Given the description of an element on the screen output the (x, y) to click on. 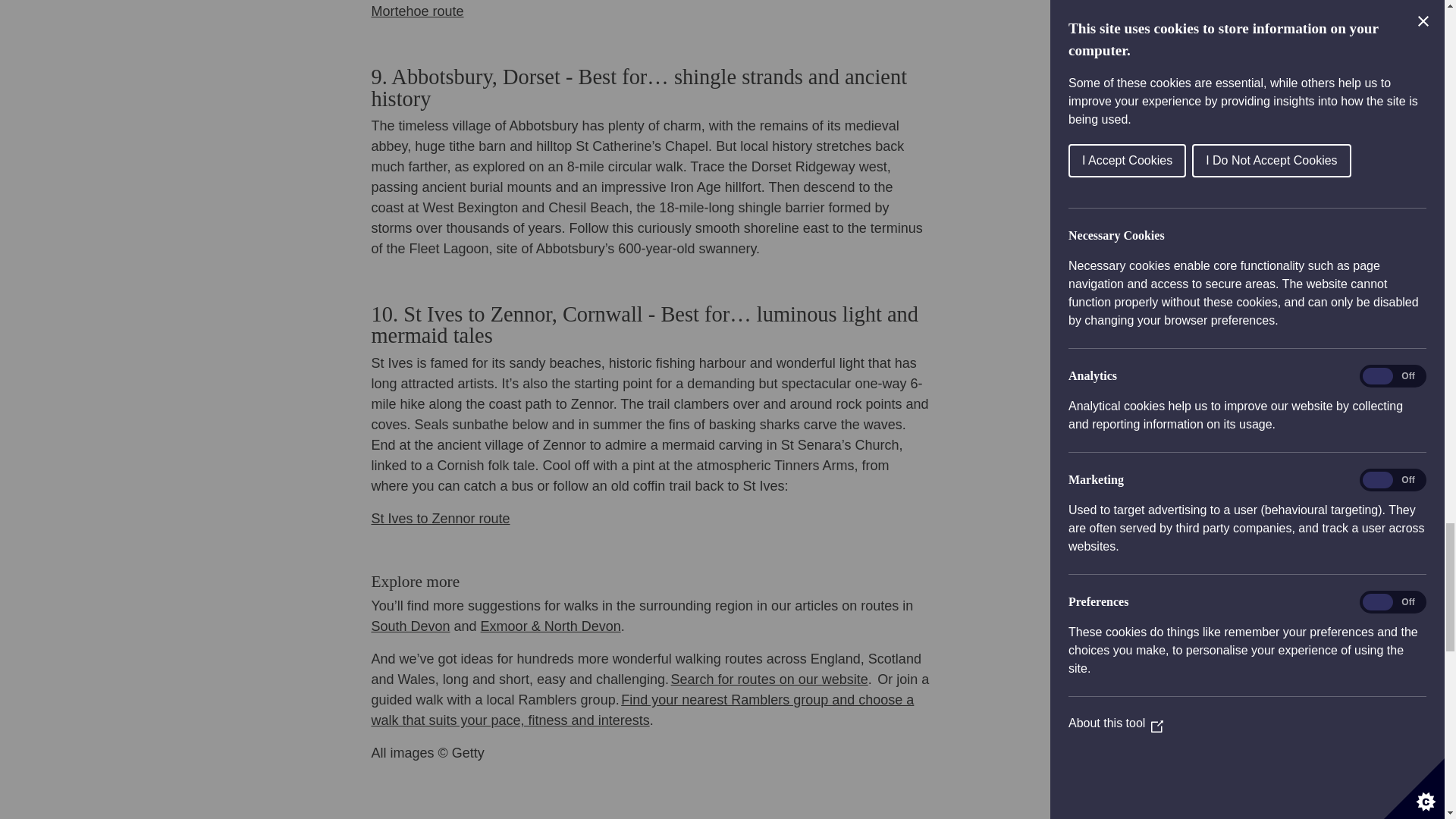
Mortehoe route (417, 11)
Search for routes on our website (769, 679)
St Ives to Zennor route (440, 518)
South Devon (410, 626)
